Given the description of an element on the screen output the (x, y) to click on. 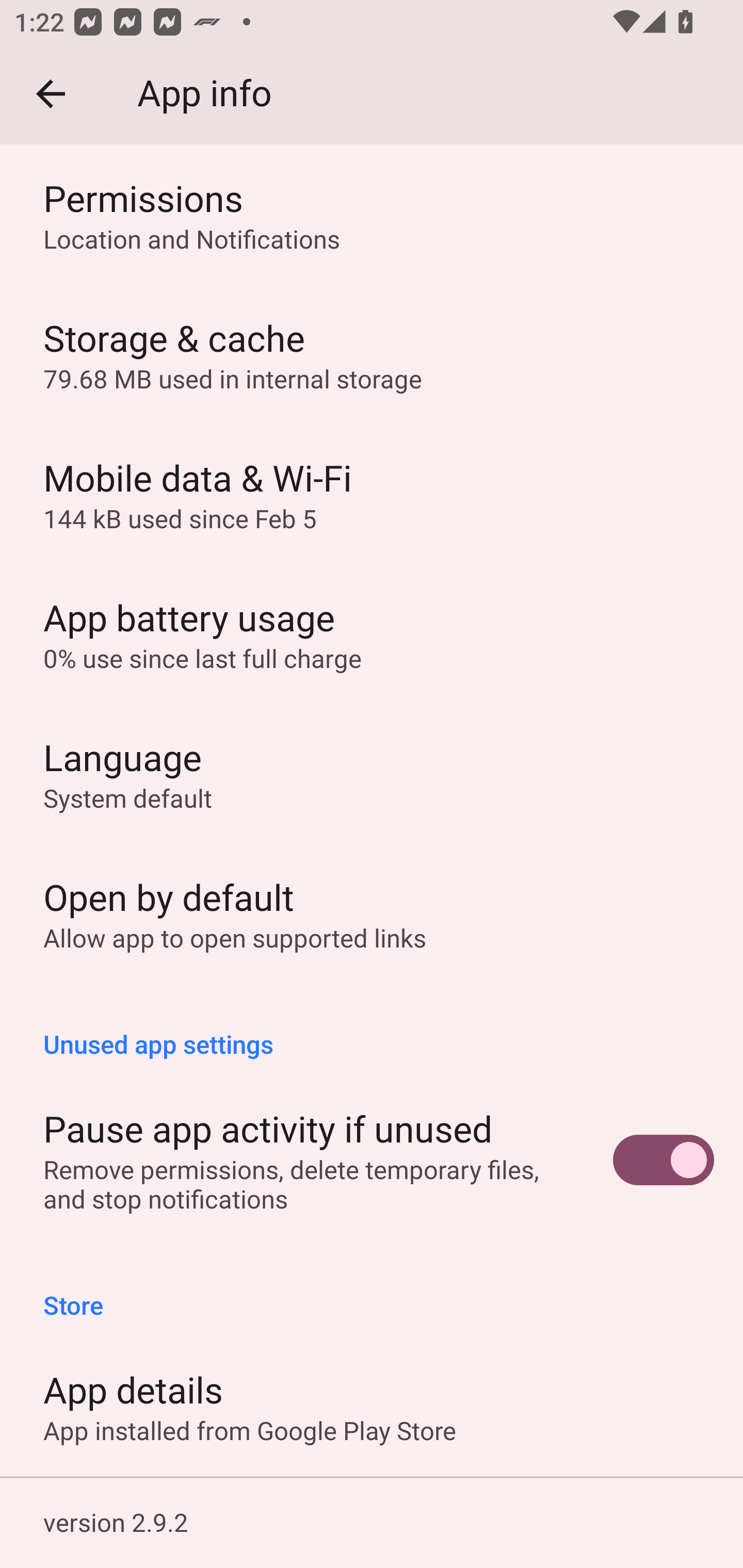
Navigate up (50, 93)
Permissions Location and Notifications (371, 214)
Storage & cache 79.68 MB used in internal storage (371, 354)
Mobile data & Wi‑Fi 144 kB used since Feb 5 (371, 494)
App battery usage 0% use since last full charge (371, 634)
Language System default (371, 773)
Open by default Allow app to open supported links (371, 913)
App details App installed from Google Play Store (371, 1405)
